Given the description of an element on the screen output the (x, y) to click on. 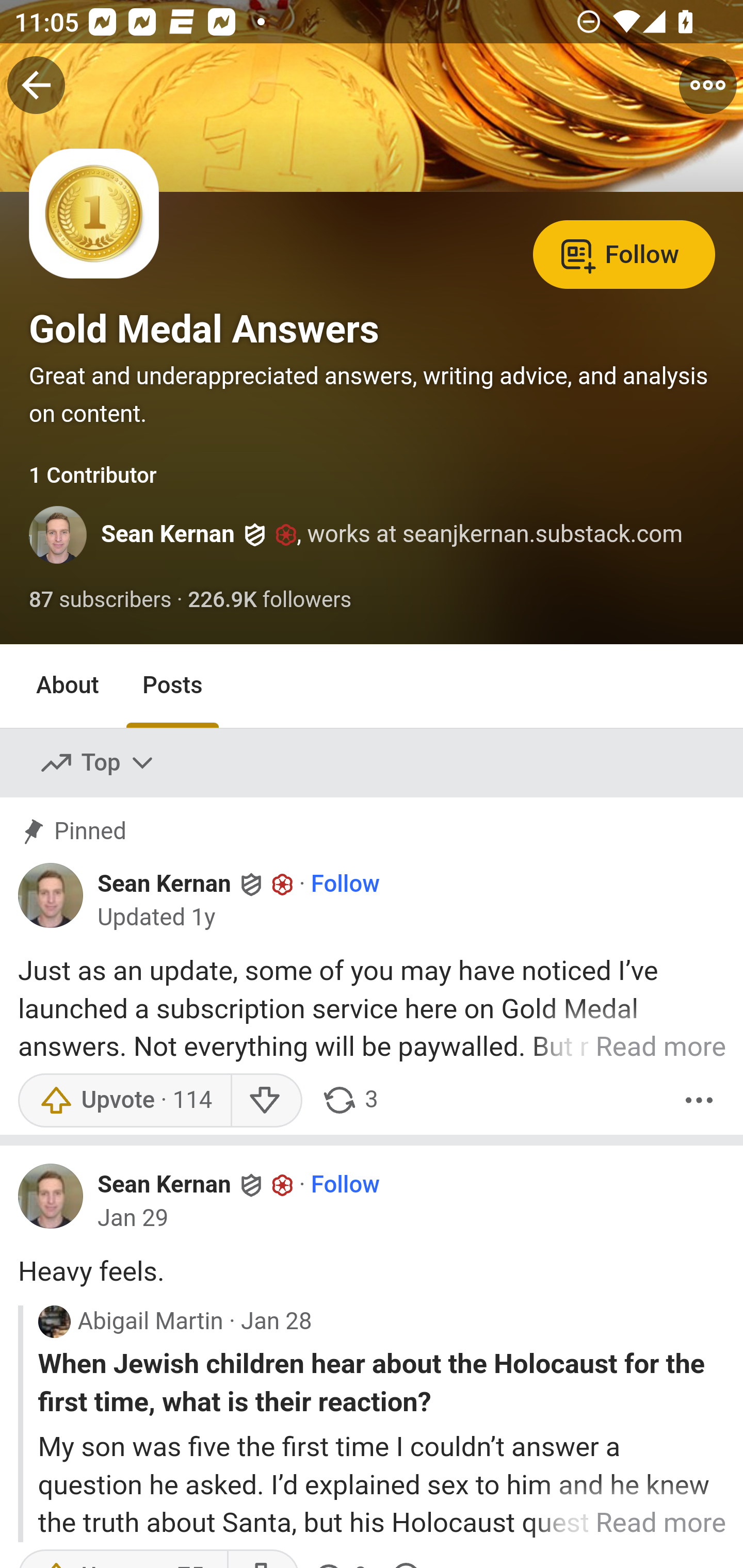
Follow (623, 252)
Gold Medal Answers (204, 329)
Profile photo for Sean Kernan (58, 534)
Sean Kernan (167, 533)
Space subscriber (285, 535)
About (68, 685)
Posts (171, 685)
Top (97, 761)
Profile photo for Sean Kernan (50, 894)
Sean Kernan Sean Kernan     Space subscriber (195, 883)
Follow (345, 885)
Space subscriber (282, 883)
Upvote (124, 1099)
Downvote (266, 1099)
3 shares (349, 1099)
More (699, 1099)
Profile photo for Sean Kernan (50, 1195)
Sean Kernan Sean Kernan     Space subscriber (195, 1184)
Follow (345, 1185)
Space subscriber (282, 1184)
Profile photo for Abigail Martin (54, 1321)
